Given the description of an element on the screen output the (x, y) to click on. 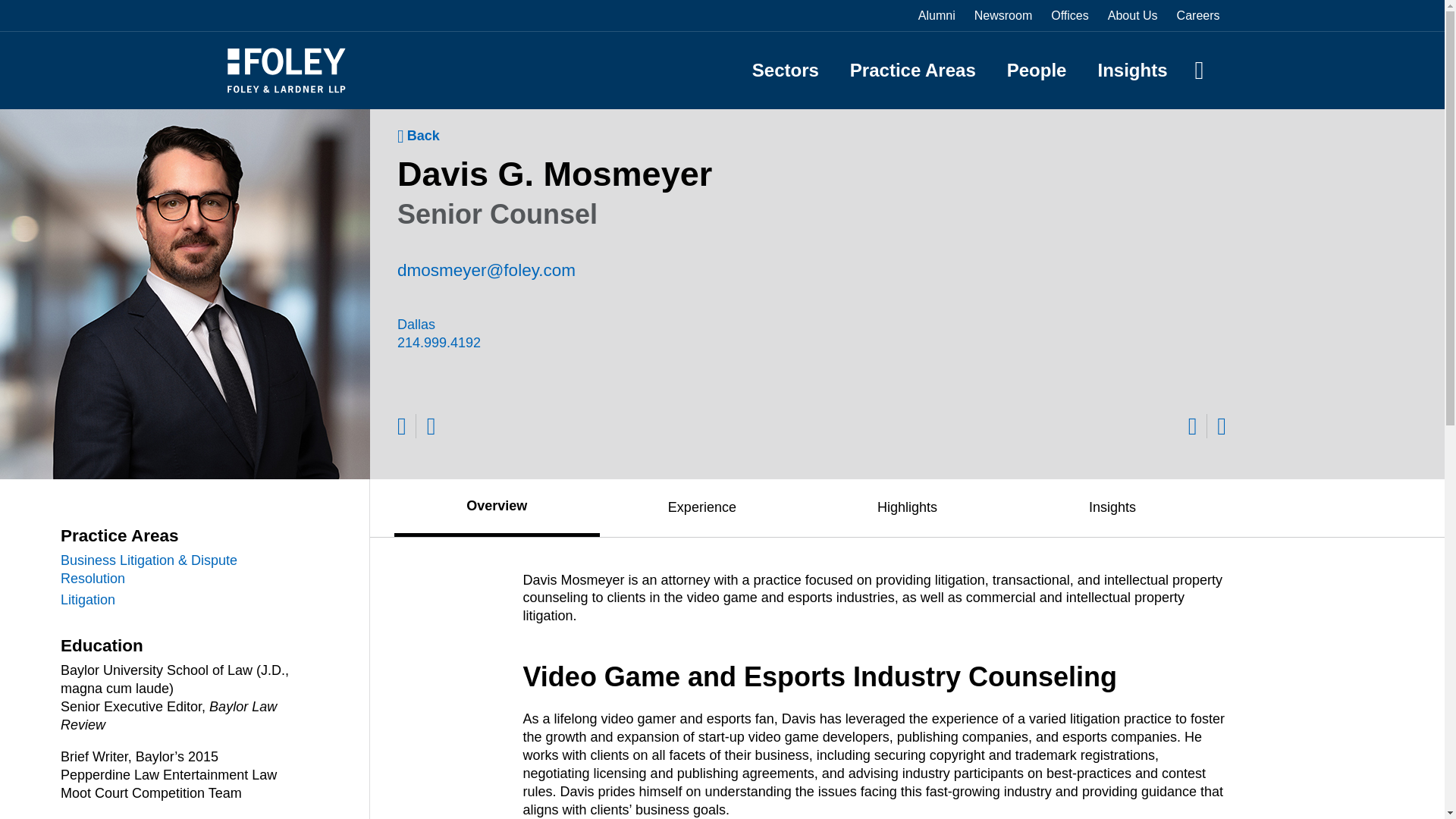
Insights (1132, 70)
Careers (1198, 15)
Overview (496, 506)
Insights (1112, 507)
Alumni (936, 15)
Experience (702, 507)
Offices (1070, 15)
Practice Areas (912, 70)
214.999.4192 (451, 343)
Highlights (907, 507)
Sectors (785, 70)
People (1037, 70)
Newsroom (1003, 15)
About Us (1132, 15)
Dallas (561, 325)
